Given the description of an element on the screen output the (x, y) to click on. 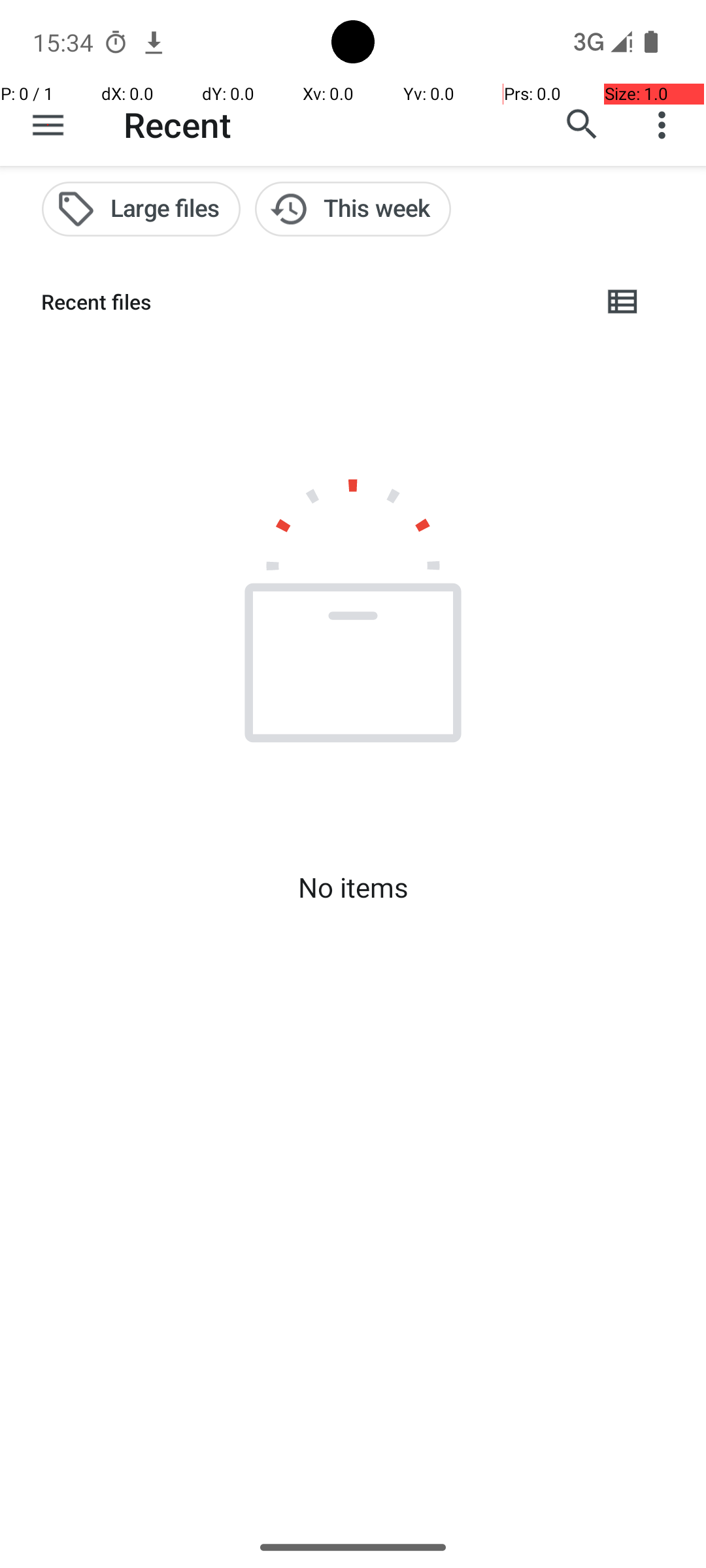
Chrome notification: www.espn.com Element type: android.widget.ImageView (153, 41)
